Given the description of an element on the screen output the (x, y) to click on. 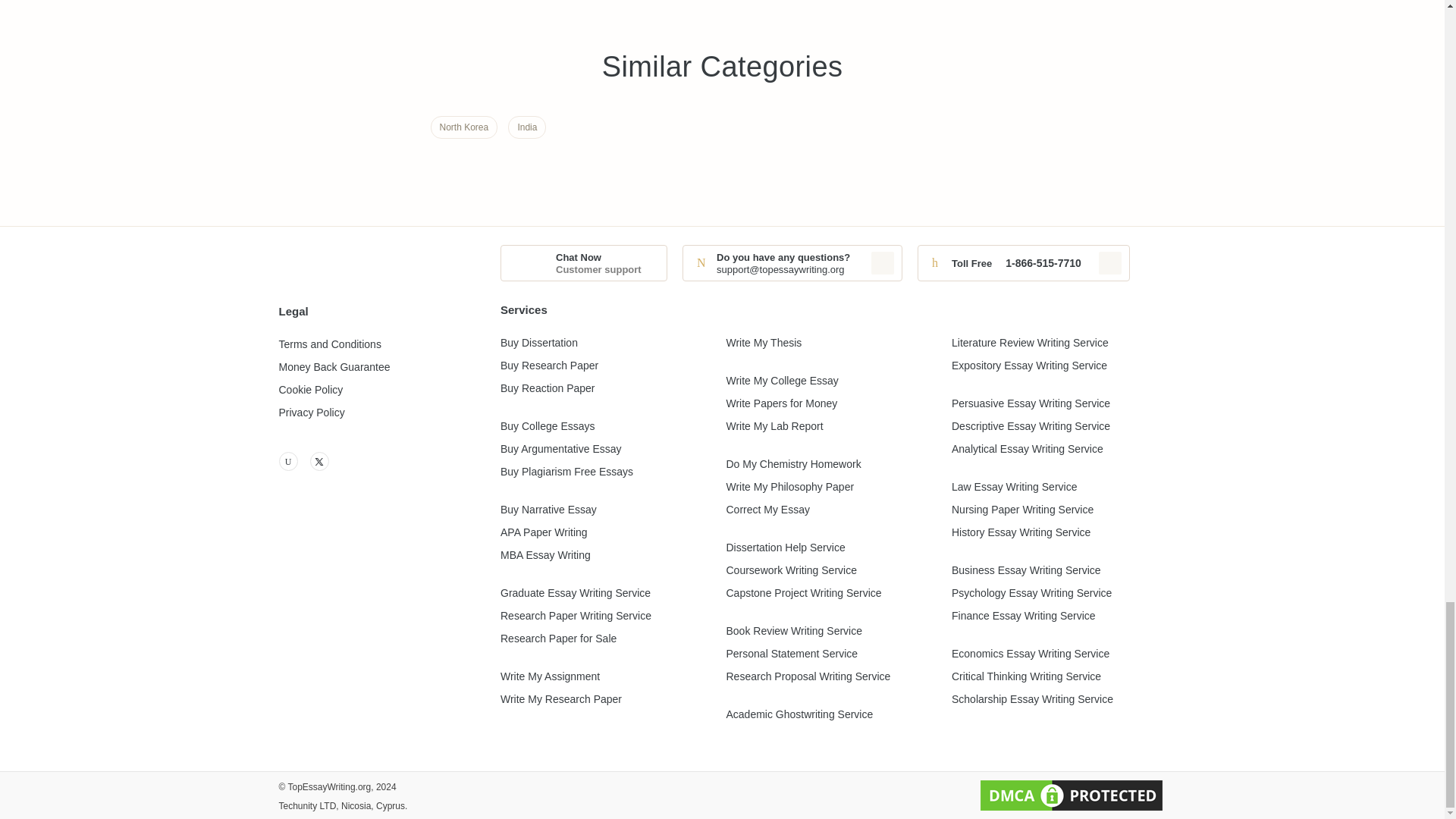
DMCA.com Protection Status (1071, 795)
Copied to clipboard (881, 262)
Copied to clipboard (1110, 262)
